Given the description of an element on the screen output the (x, y) to click on. 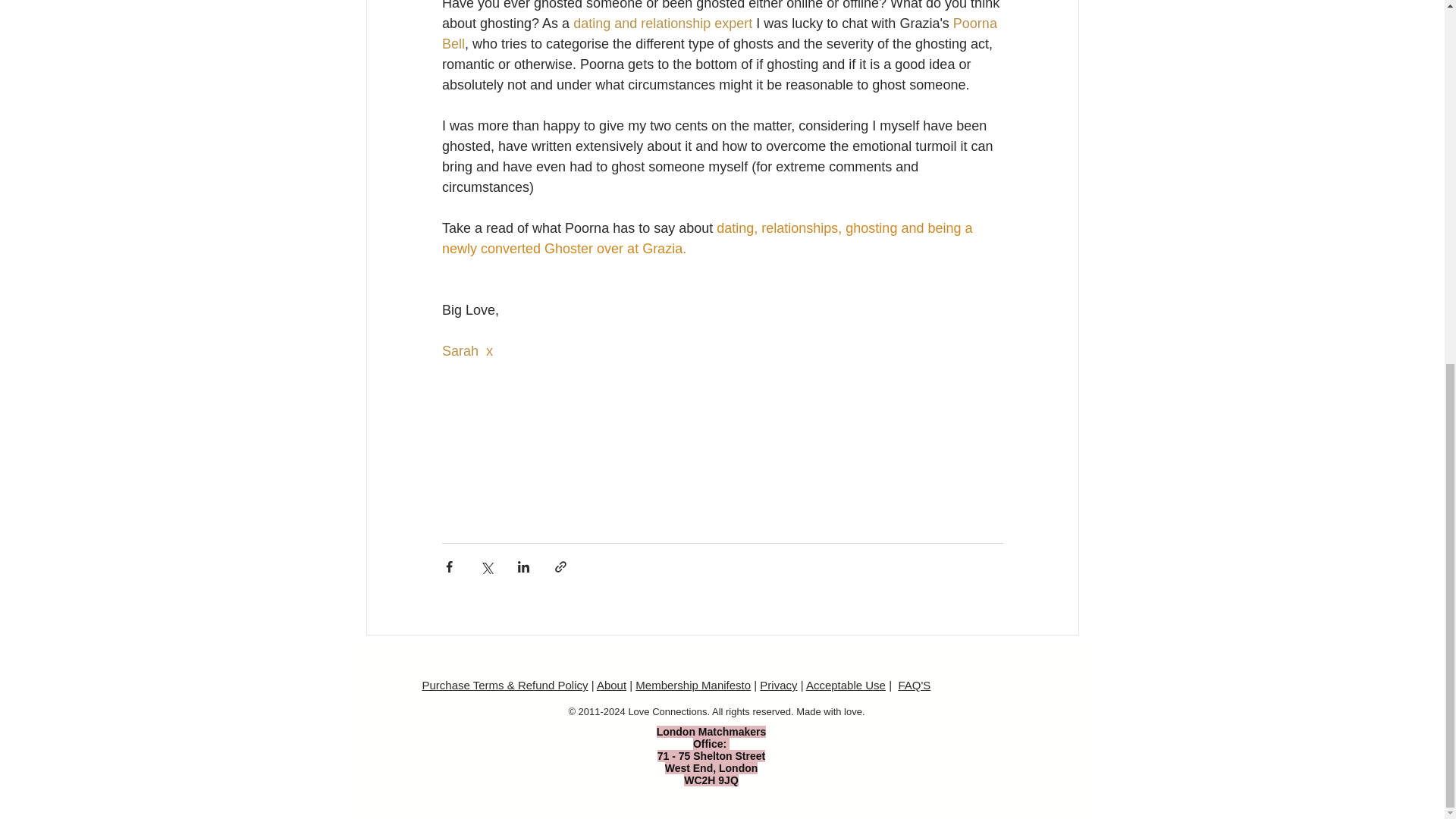
dating and relationship expert (662, 23)
Privacy (778, 684)
Membership Manifesto (692, 684)
FAQ'S (914, 684)
Sarah  x (466, 350)
Poorna Bell (720, 33)
About (611, 684)
London Matchmakers Office:  (711, 737)
Acceptable Use (845, 684)
